Given the description of an element on the screen output the (x, y) to click on. 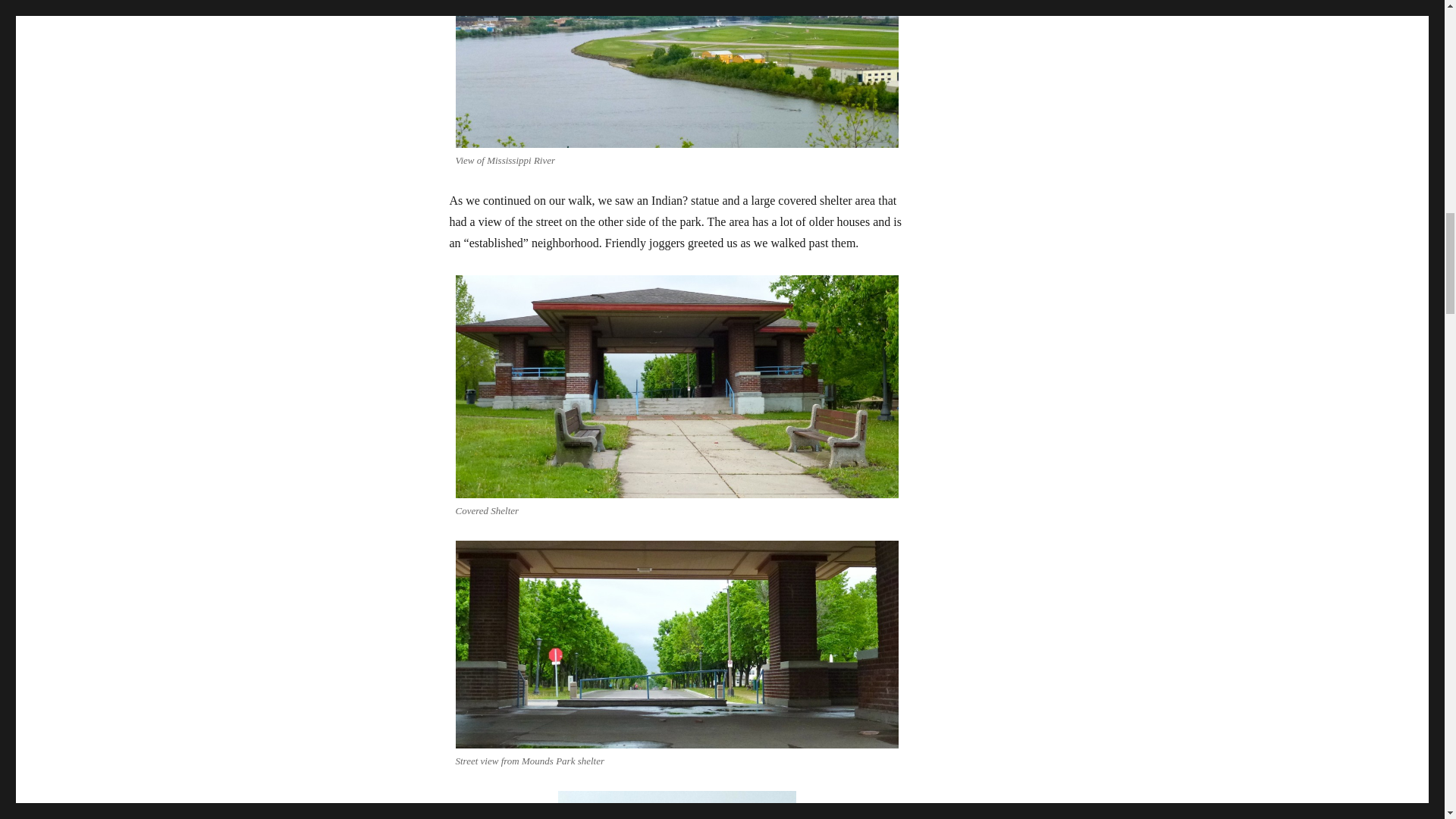
Covered Shelter (676, 386)
Mounds Park Statue (676, 805)
View of Mississippi River (676, 74)
Street view from Mounds Park shelter (676, 644)
